Given the description of an element on the screen output the (x, y) to click on. 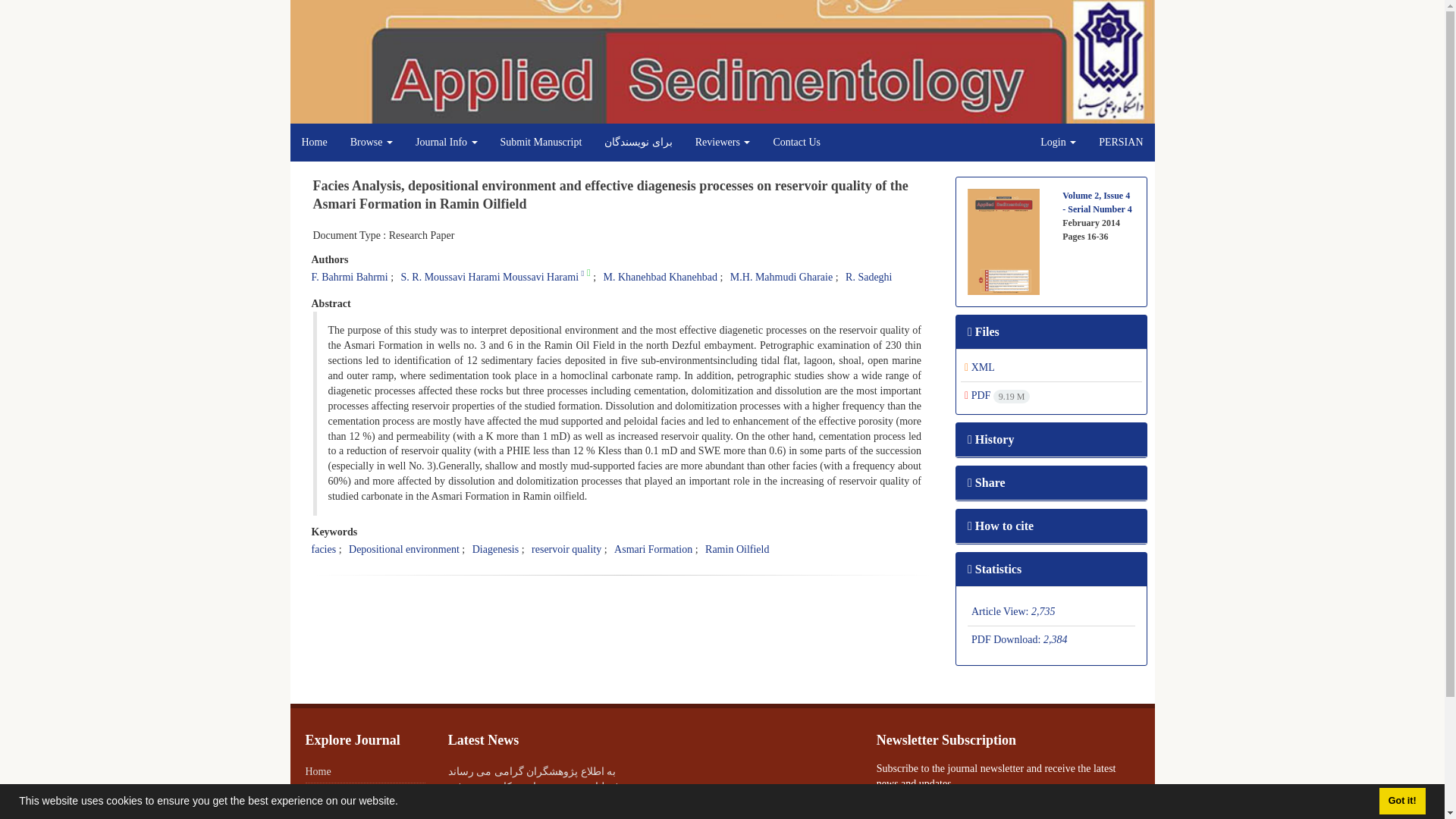
F. Bahrmi Bahrmi (349, 276)
Browse (371, 142)
S. R. Moussavi Harami Moussavi Harami (489, 276)
Journal Info (446, 142)
M. Khanehbad Khanehbad (660, 276)
M.H. Mahmudi Gharaie (781, 276)
Submit Manuscript (541, 142)
PERSIAN (1120, 142)
R. Sadeghi (868, 276)
Login (1058, 142)
Home (313, 142)
Got it! (1401, 800)
Reviewers (722, 142)
Contact Us (796, 142)
